Given the description of an element on the screen output the (x, y) to click on. 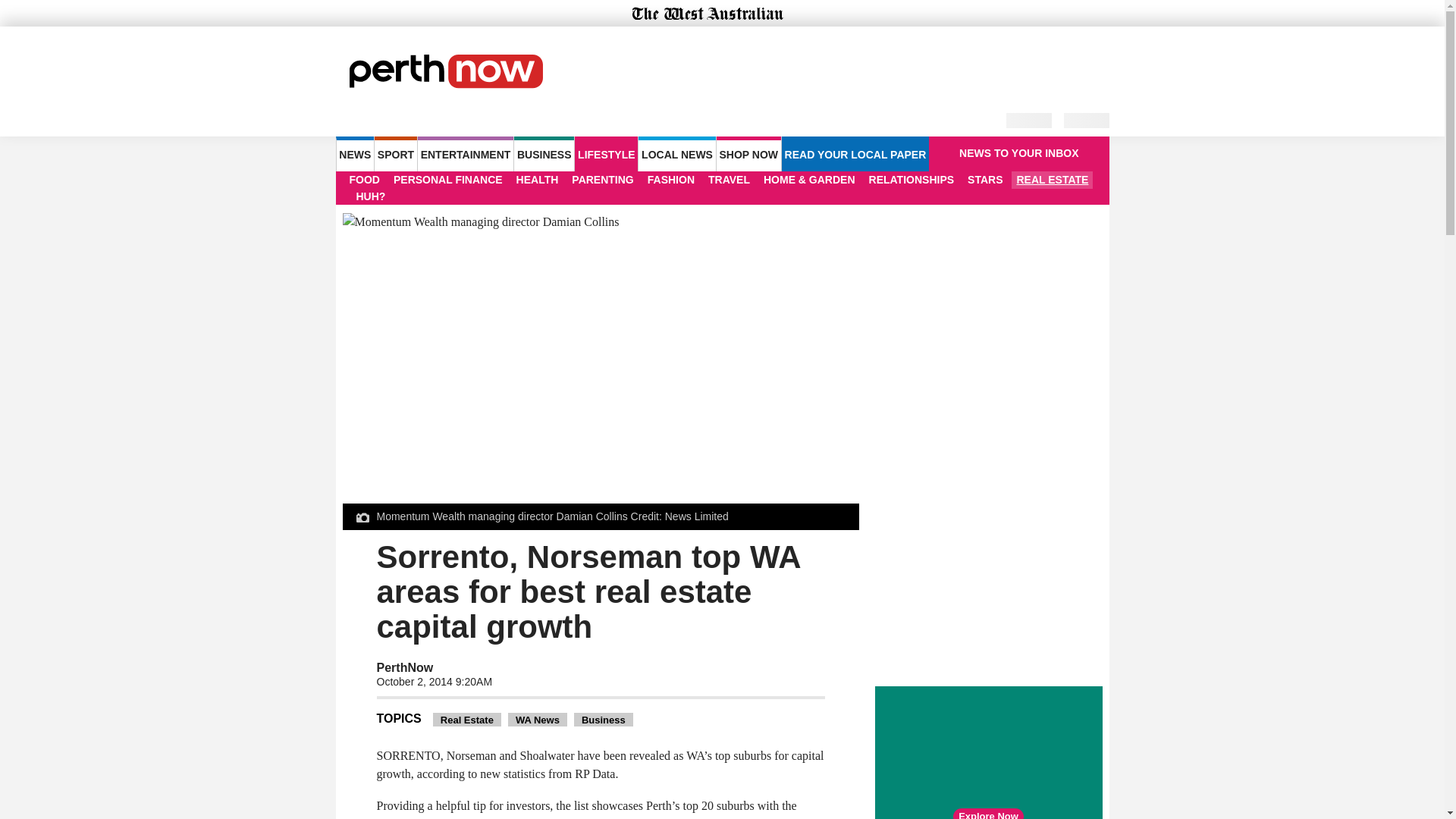
ENTERTAINMENT (465, 153)
BUSINESS (543, 153)
SPORT (395, 153)
NEWS (354, 153)
